Given the description of an element on the screen output the (x, y) to click on. 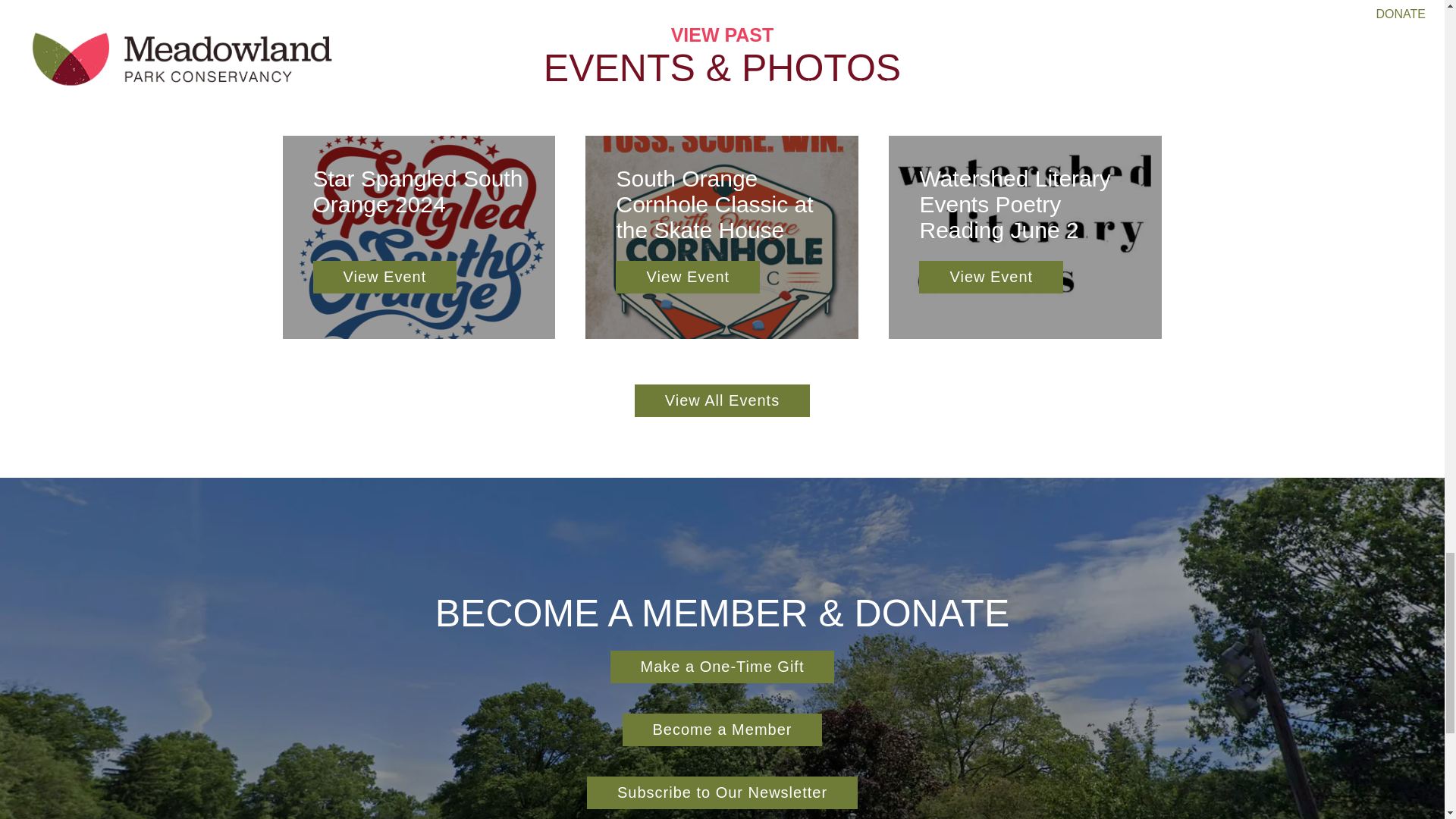
View All Events (721, 400)
Subscribe to Our Newsletter (721, 792)
Make a One-Time Gift (722, 666)
Become a Member (418, 237)
